Given the description of an element on the screen output the (x, y) to click on. 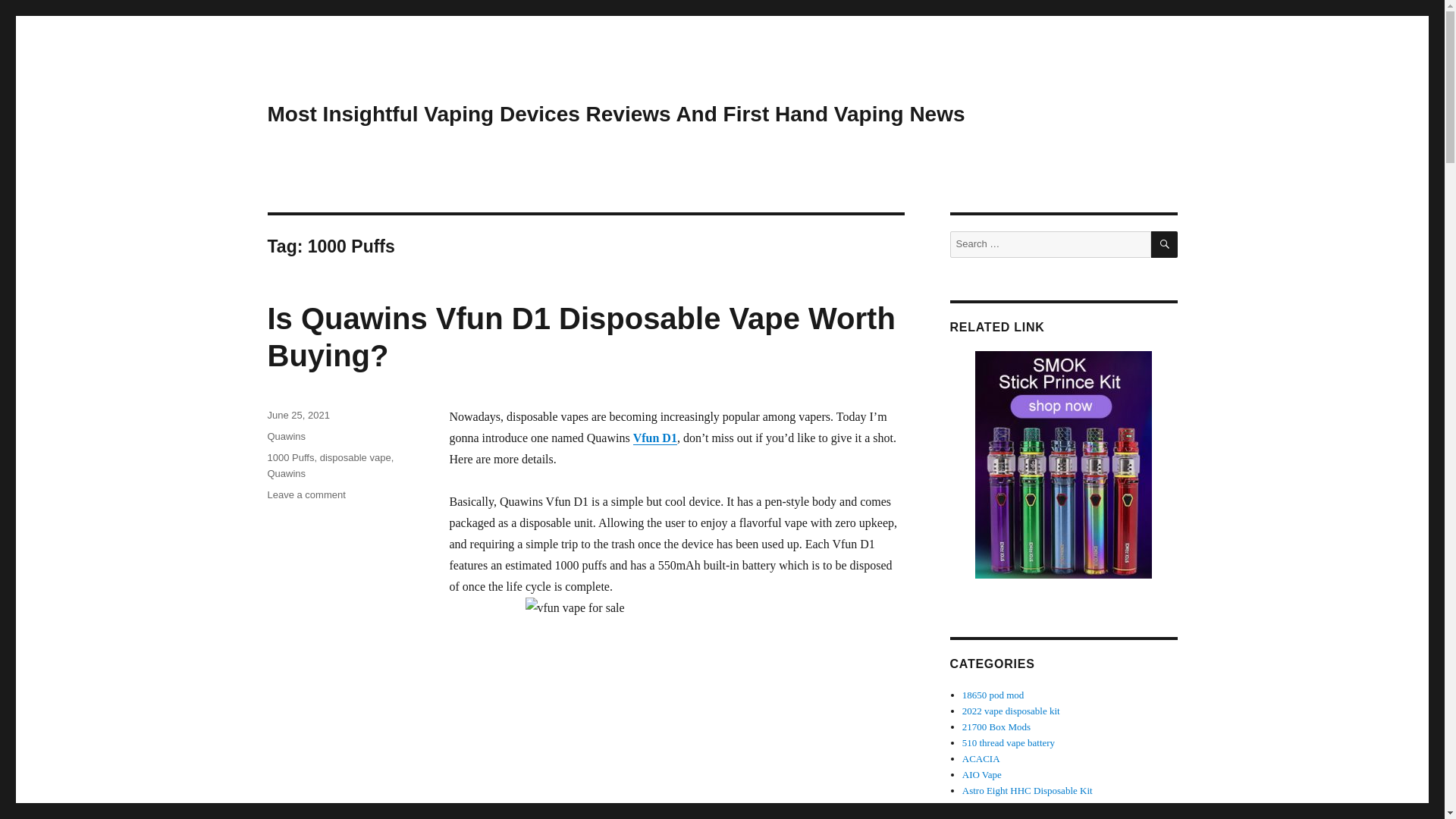
Vfun D1 (655, 437)
Quawins (285, 436)
18650 pod mod (993, 695)
SEARCH (1164, 243)
1000 Puffs (290, 457)
Best Auto Squonk Kit 2019 (1016, 817)
21700 Box Mods (996, 726)
Astro Eight HHC Disposable Kit (1027, 790)
AIO Vape (981, 774)
June 25, 2021 (297, 414)
disposable vape (355, 457)
510 thread vape battery (1008, 742)
vfun vape for sale (676, 708)
Bang Vape (983, 806)
